Given the description of an element on the screen output the (x, y) to click on. 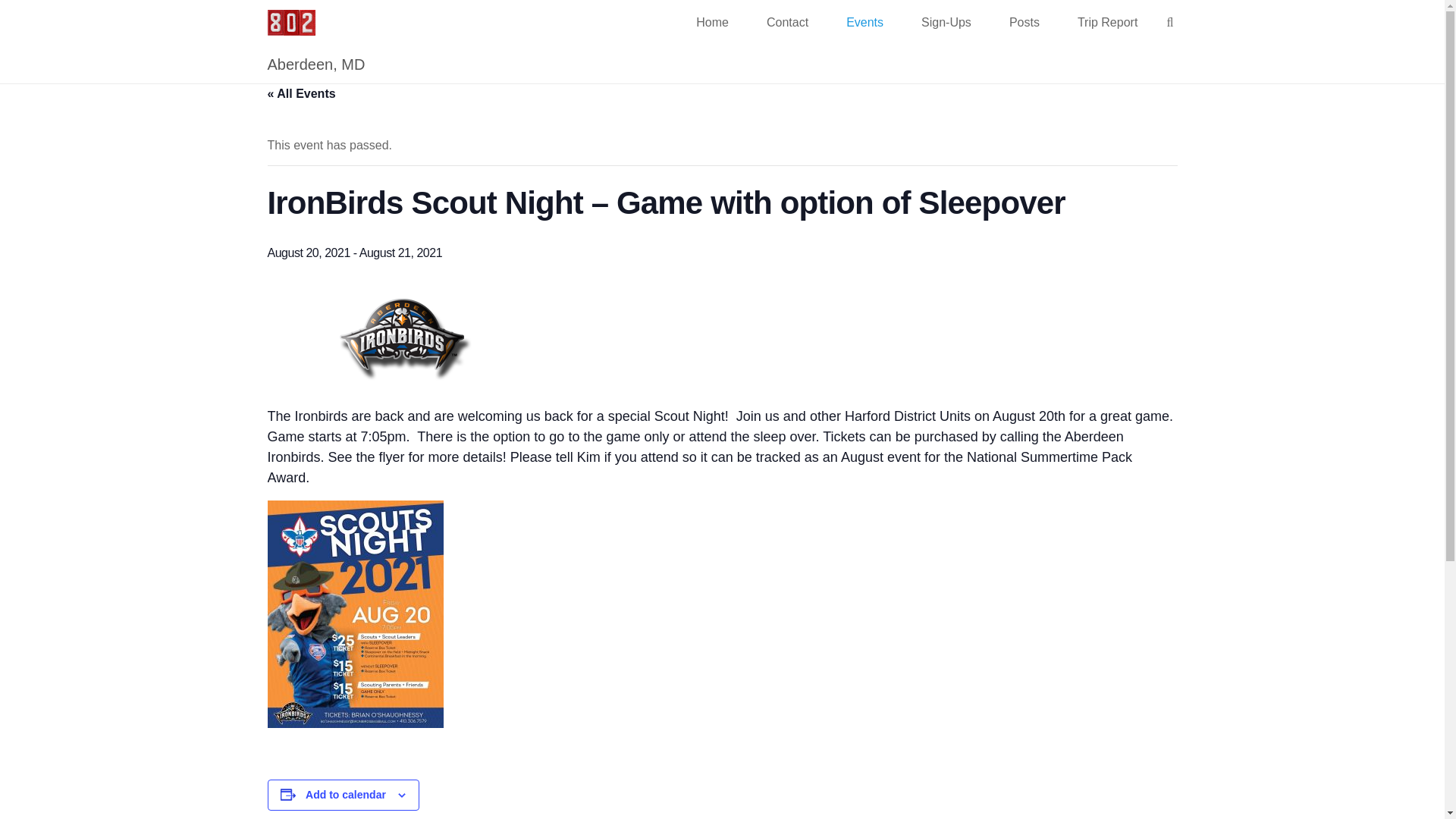
Sign-Ups (946, 22)
Posts (1024, 22)
Add to calendar (345, 794)
Trip Report (1107, 22)
Home (712, 22)
Events (864, 22)
Contact (787, 22)
